Given the description of an element on the screen output the (x, y) to click on. 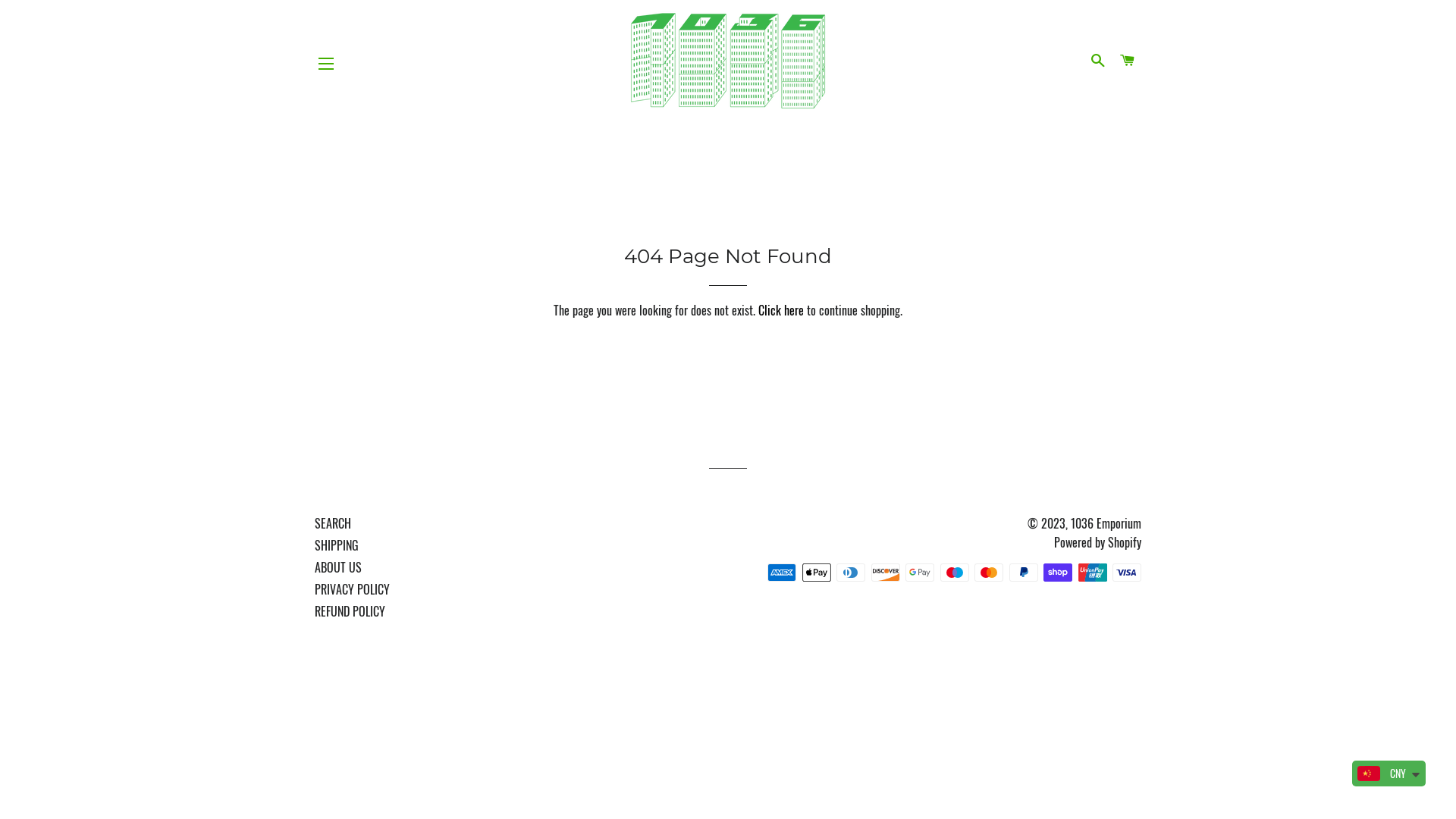
CART Element type: text (1127, 60)
1036 Emporium Element type: text (1105, 523)
SEARCH Element type: text (1097, 60)
PRIVACY POLICY Element type: text (351, 589)
REFUND POLICY Element type: text (349, 611)
Powered by Shopify Element type: text (1097, 542)
SHIPPING Element type: text (336, 545)
SEARCH Element type: text (332, 523)
ABOUT US Element type: text (337, 567)
Click here Element type: text (780, 310)
SITE NAVIGATION Element type: text (326, 63)
